Given the description of an element on the screen output the (x, y) to click on. 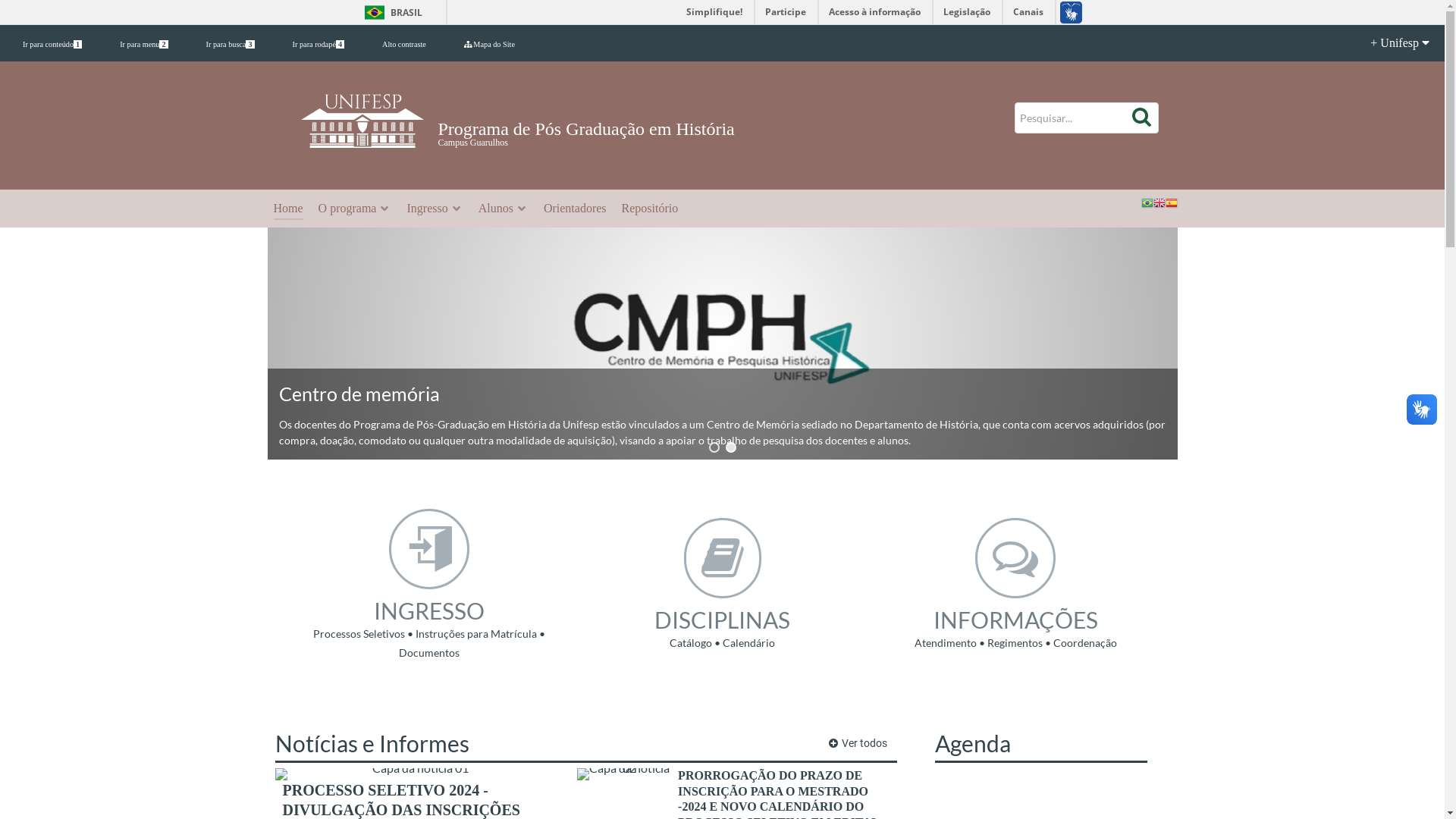
Orientadores Element type: text (574, 209)
Ir para menu2 Element type: text (143, 44)
Mapa do Site Element type: text (489, 44)
Ver todos Element type: text (857, 743)
BRASIL Element type: text (389, 12)
Ir para busca3 Element type: text (230, 44)
+ Unifesp Element type: text (1387, 43)
Alto contraste Element type: text (404, 44)
English Element type: hover (1158, 201)
Portuguese Element type: hover (1146, 201)
Home Element type: text (287, 209)
Spanish Element type: hover (1170, 201)
